Given the description of an element on the screen output the (x, y) to click on. 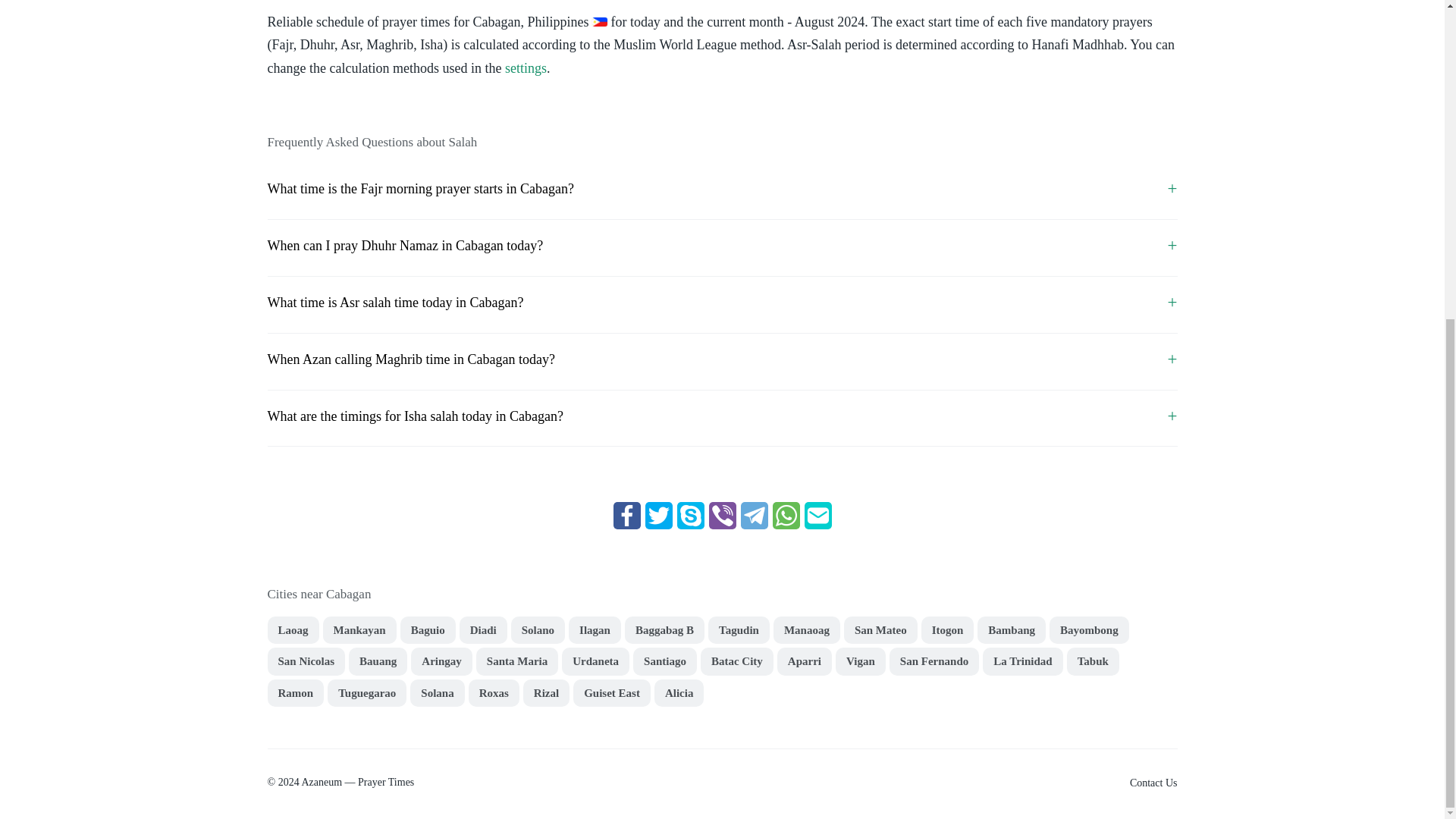
Skype (690, 515)
Whatsapp (785, 515)
Twitter (658, 515)
Facebook (626, 515)
Prayer Times in Itogon (947, 630)
Prayer Times in Tagudin (738, 630)
Prayer Times in San Mateo (880, 630)
Telegram (753, 515)
Email (817, 515)
Prayer Times in Ilagan (595, 630)
